Given the description of an element on the screen output the (x, y) to click on. 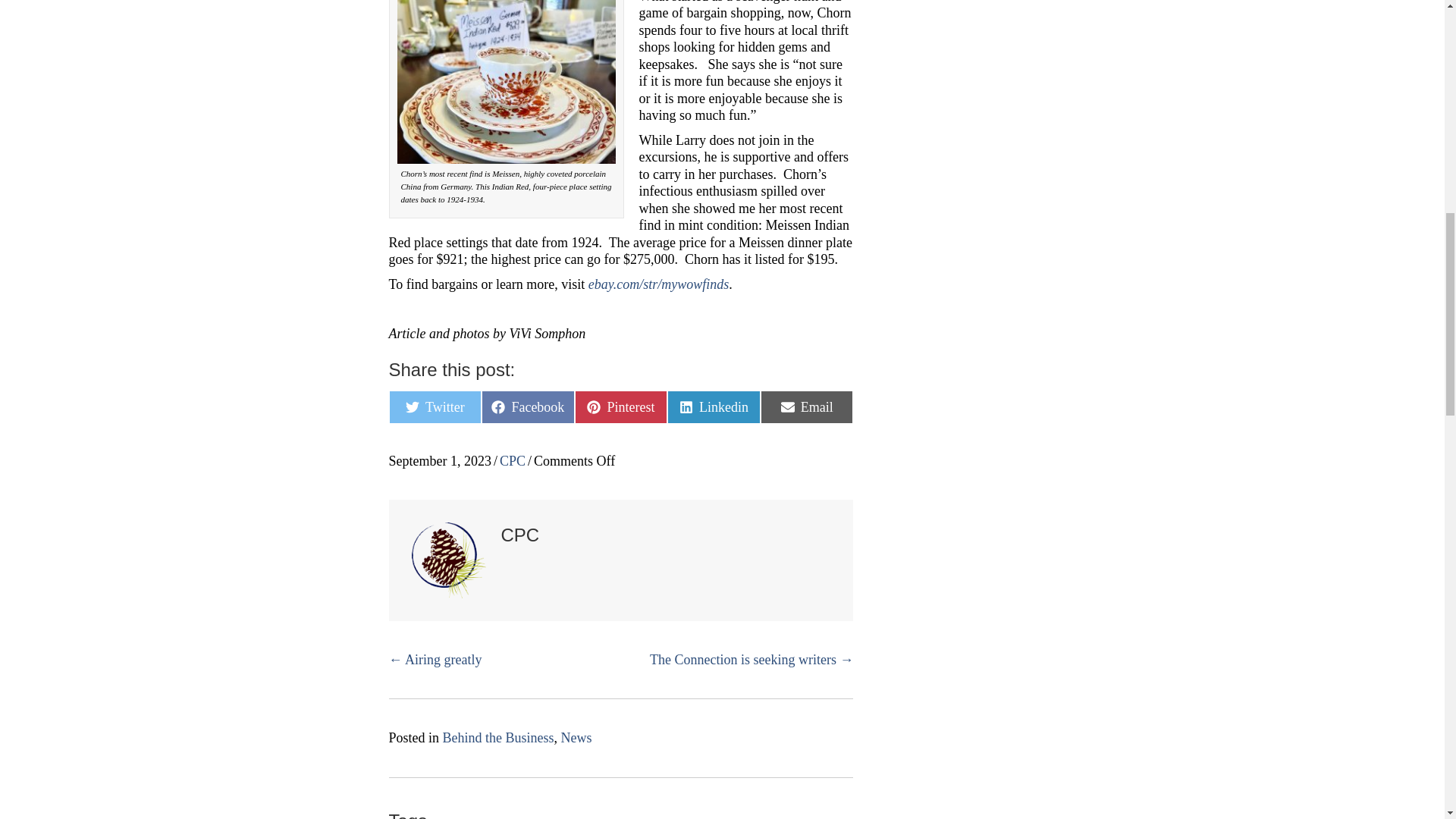
CPC (512, 460)
News (576, 737)
Linkedin (713, 407)
Facebook (528, 407)
Email (806, 407)
Twitter (434, 407)
Pinterest (621, 407)
Behind the Business (498, 737)
